Given the description of an element on the screen output the (x, y) to click on. 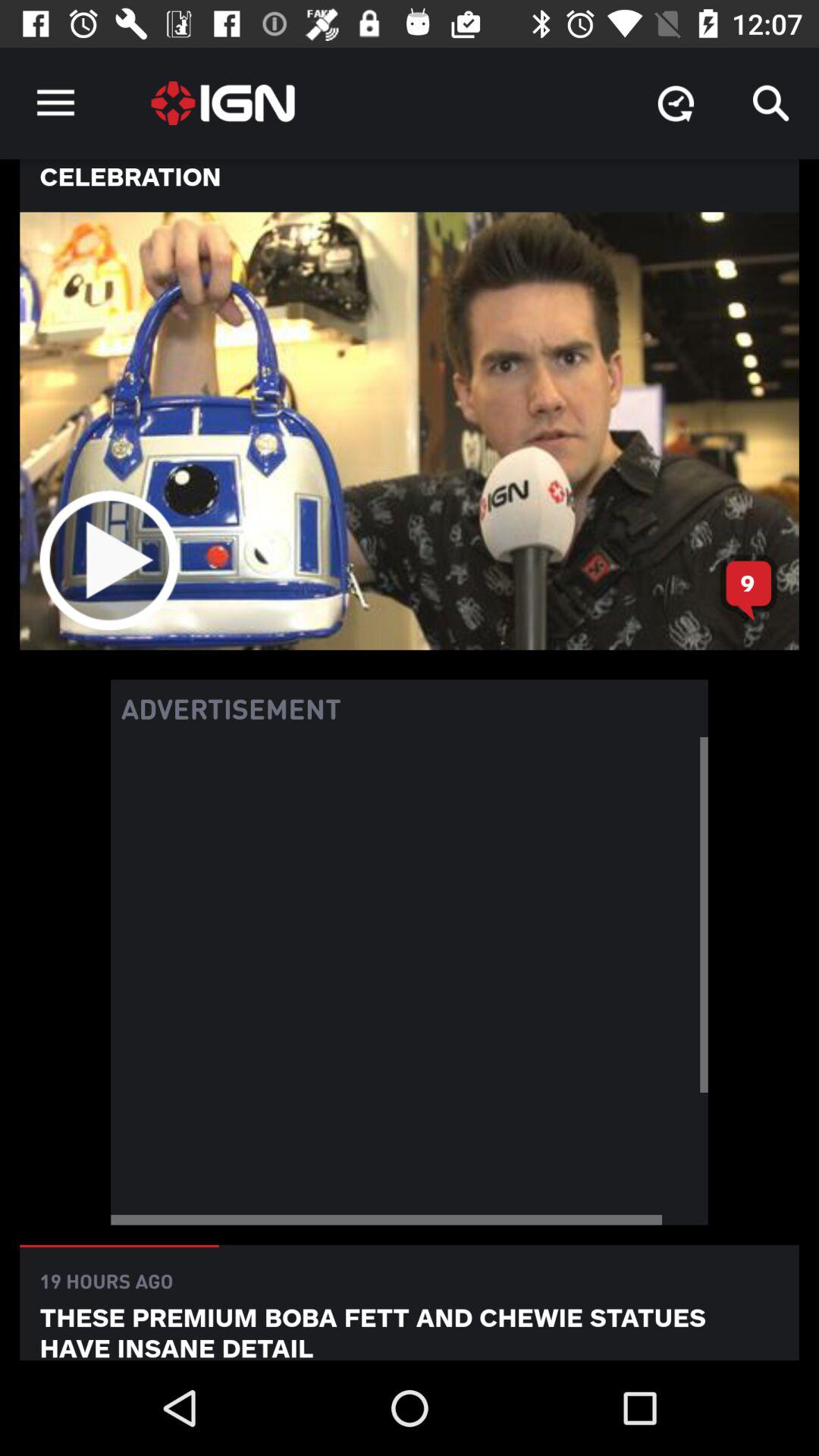
tap the item below advertisement (409, 981)
